Given the description of an element on the screen output the (x, y) to click on. 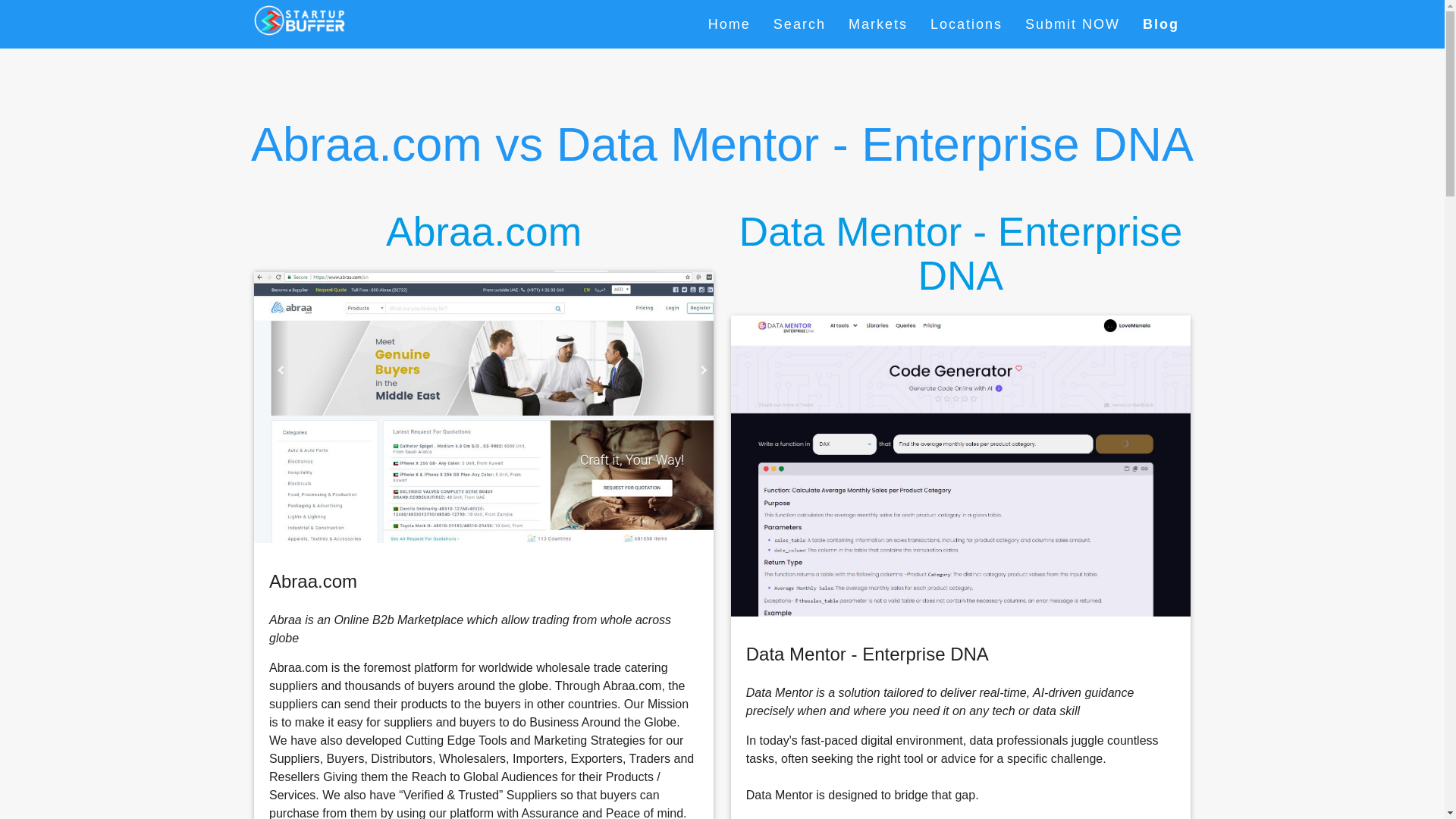
Markets (877, 24)
Blog (1161, 24)
Search (799, 24)
Home (729, 24)
Startup Buffer Blog (1161, 24)
Submit NOW (1072, 24)
Abraa.com (483, 406)
Data Mentor - Enterprise DNA (960, 253)
Locations (965, 24)
